Given the description of an element on the screen output the (x, y) to click on. 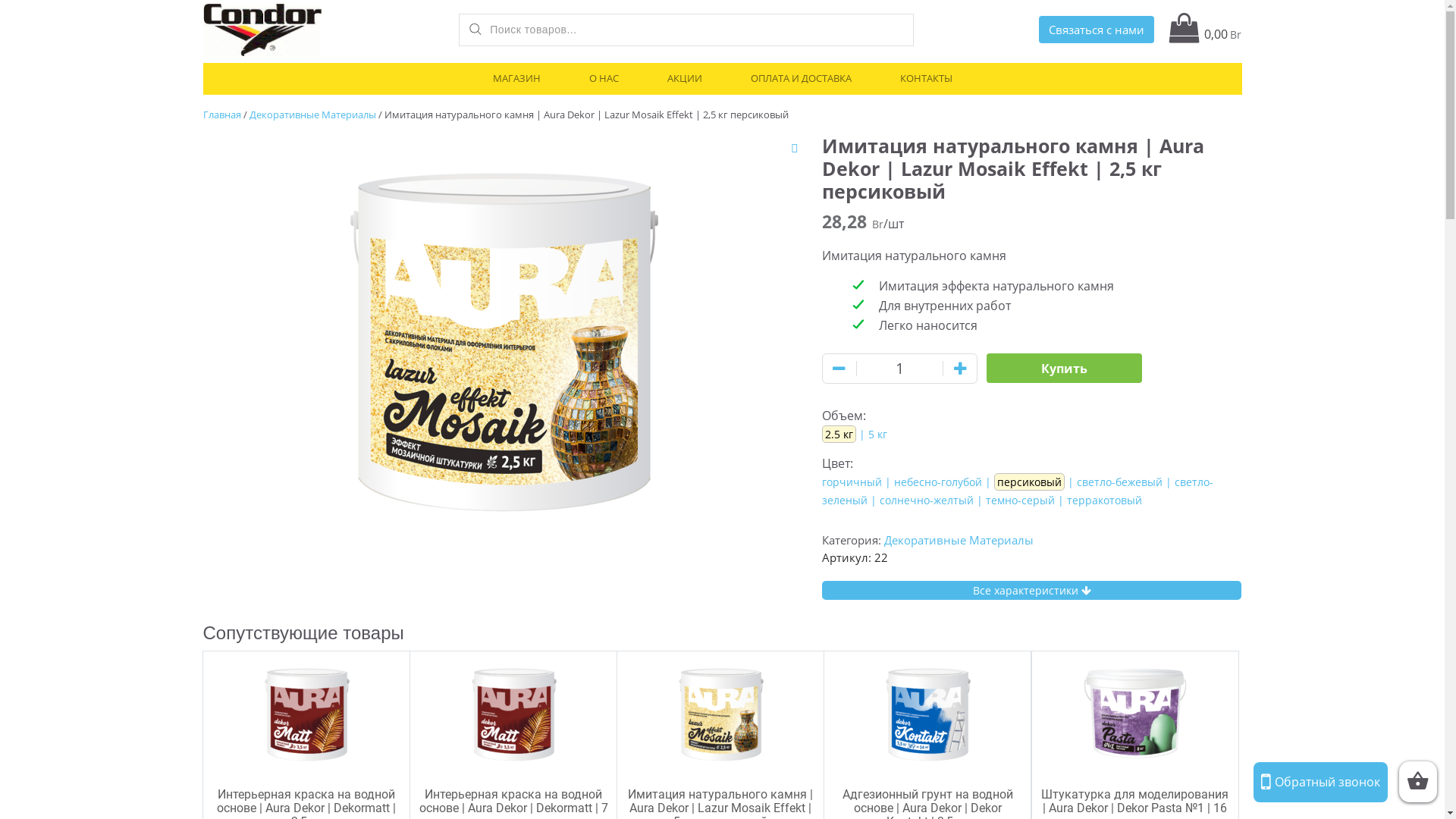
0,00Br Element type: text (1205, 33)
aura_lazur_mosaik_effekt_model Element type: hover (501, 332)
